Given the description of an element on the screen output the (x, y) to click on. 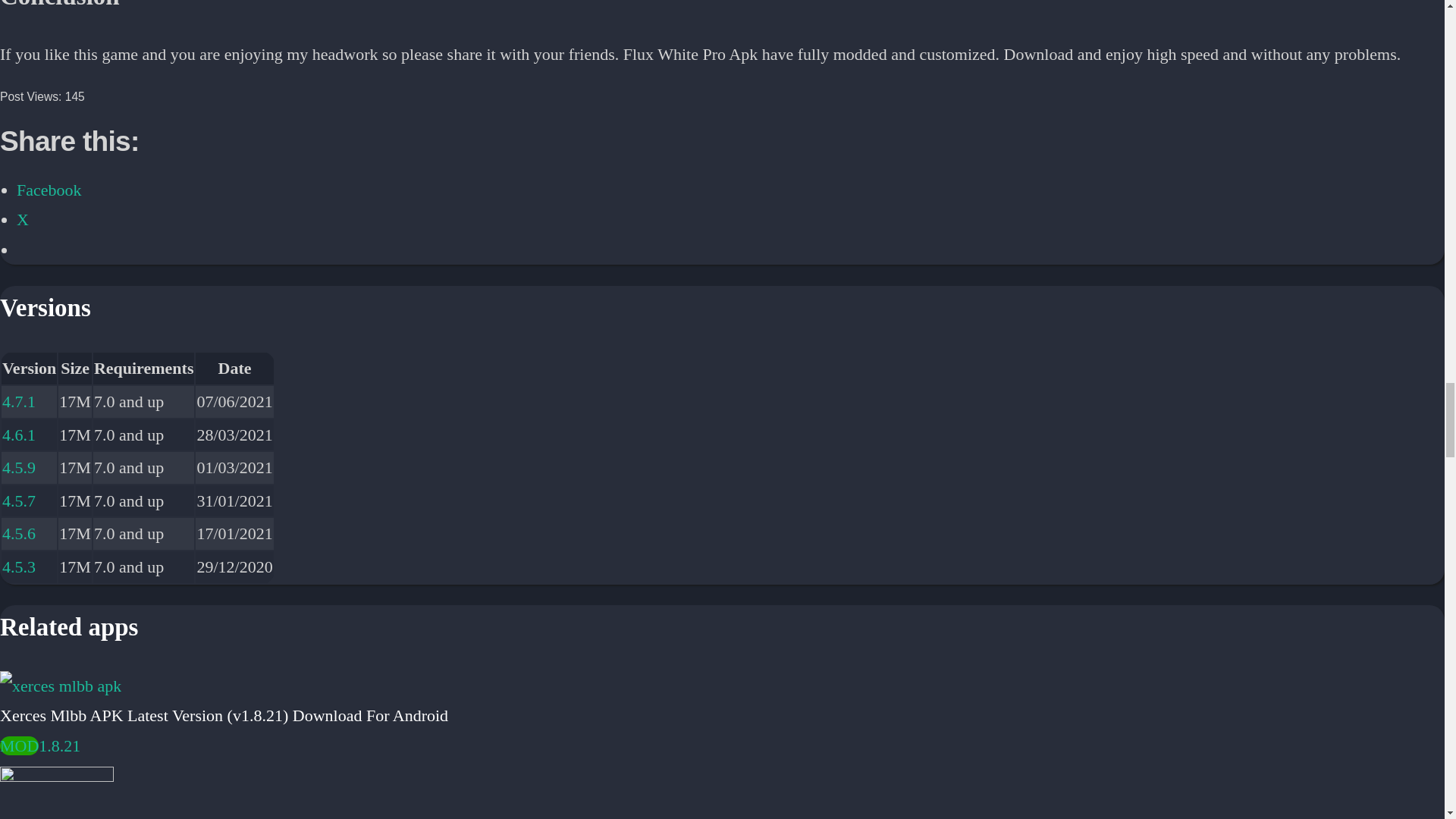
Click to share on Facebook (48, 189)
